Given the description of an element on the screen output the (x, y) to click on. 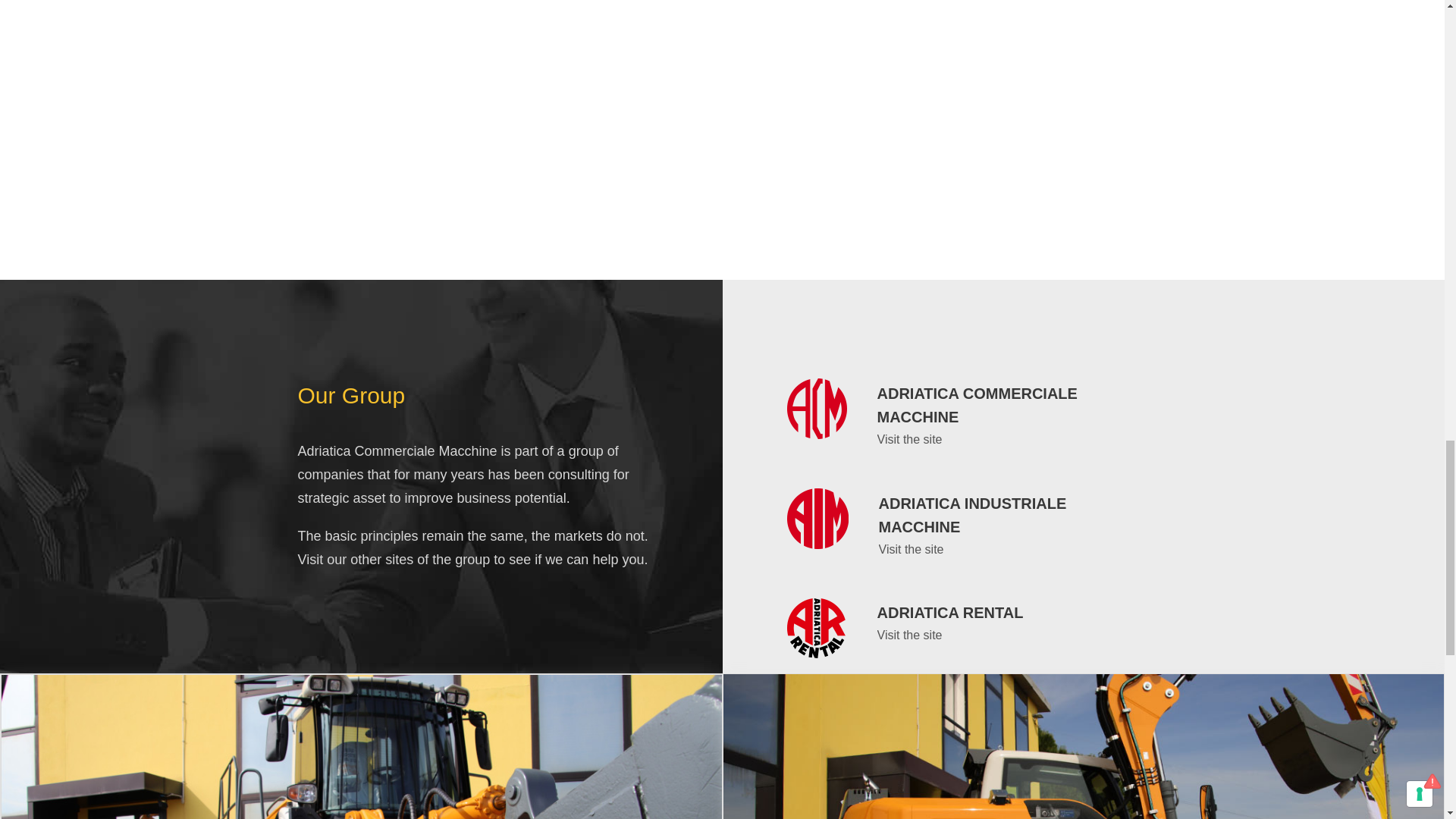
Adriatica Rental Srl (817, 408)
Adriatica Rental Srl (817, 518)
chisiamo (361, 746)
Adriatica Rental Srl (817, 627)
